Given the description of an element on the screen output the (x, y) to click on. 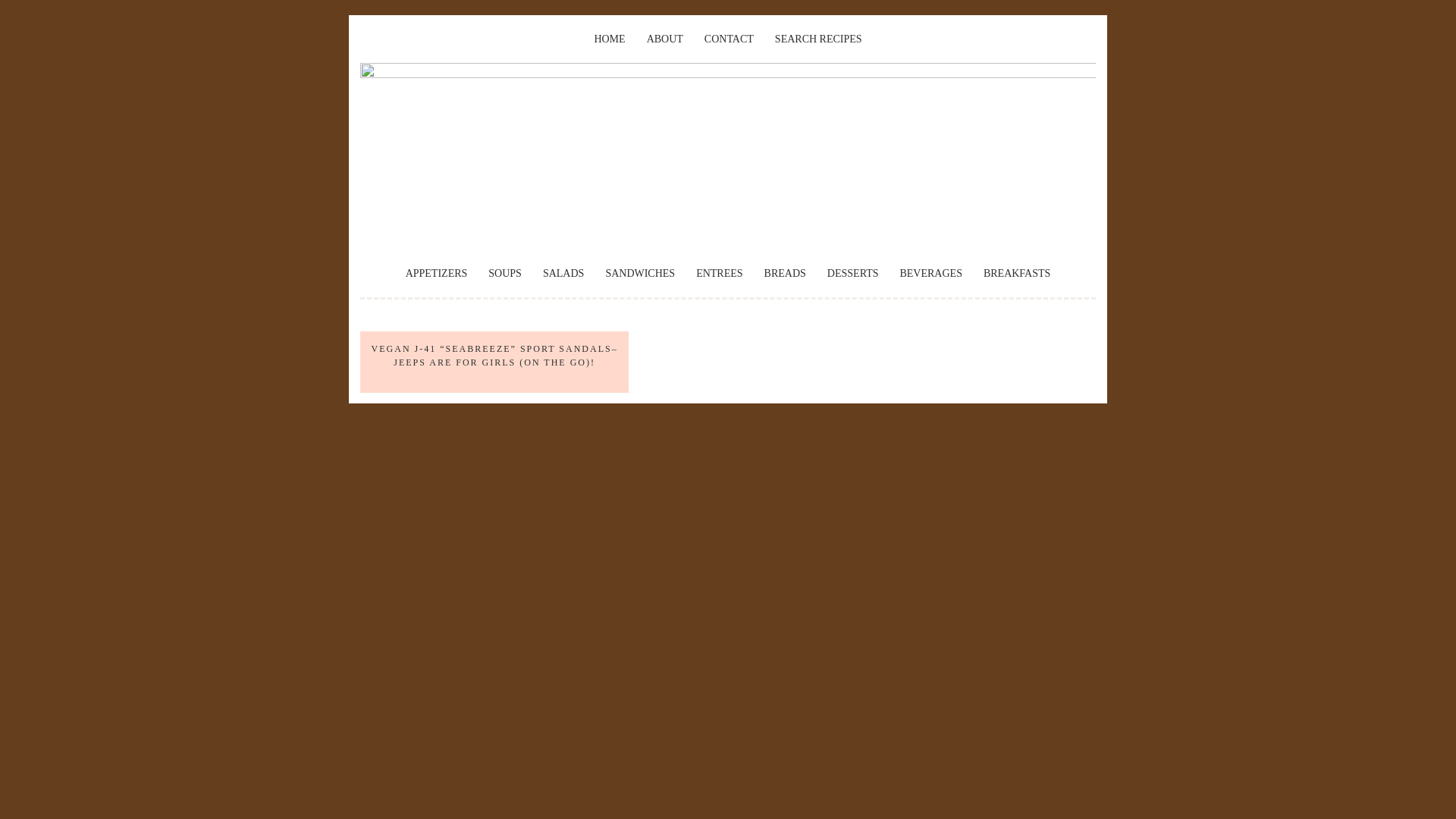
BREADS (785, 273)
BEVERAGES (929, 273)
ENTREES (718, 273)
CONTACT (729, 38)
SOUPS (504, 273)
ABOUT (664, 38)
APPETIZERS (436, 273)
SANDWICHES (640, 273)
HOME (609, 38)
SALADS (563, 273)
BREAKFASTS (1016, 273)
DESSERTS (853, 273)
SEARCH RECIPES (817, 38)
